Given the description of an element on the screen output the (x, y) to click on. 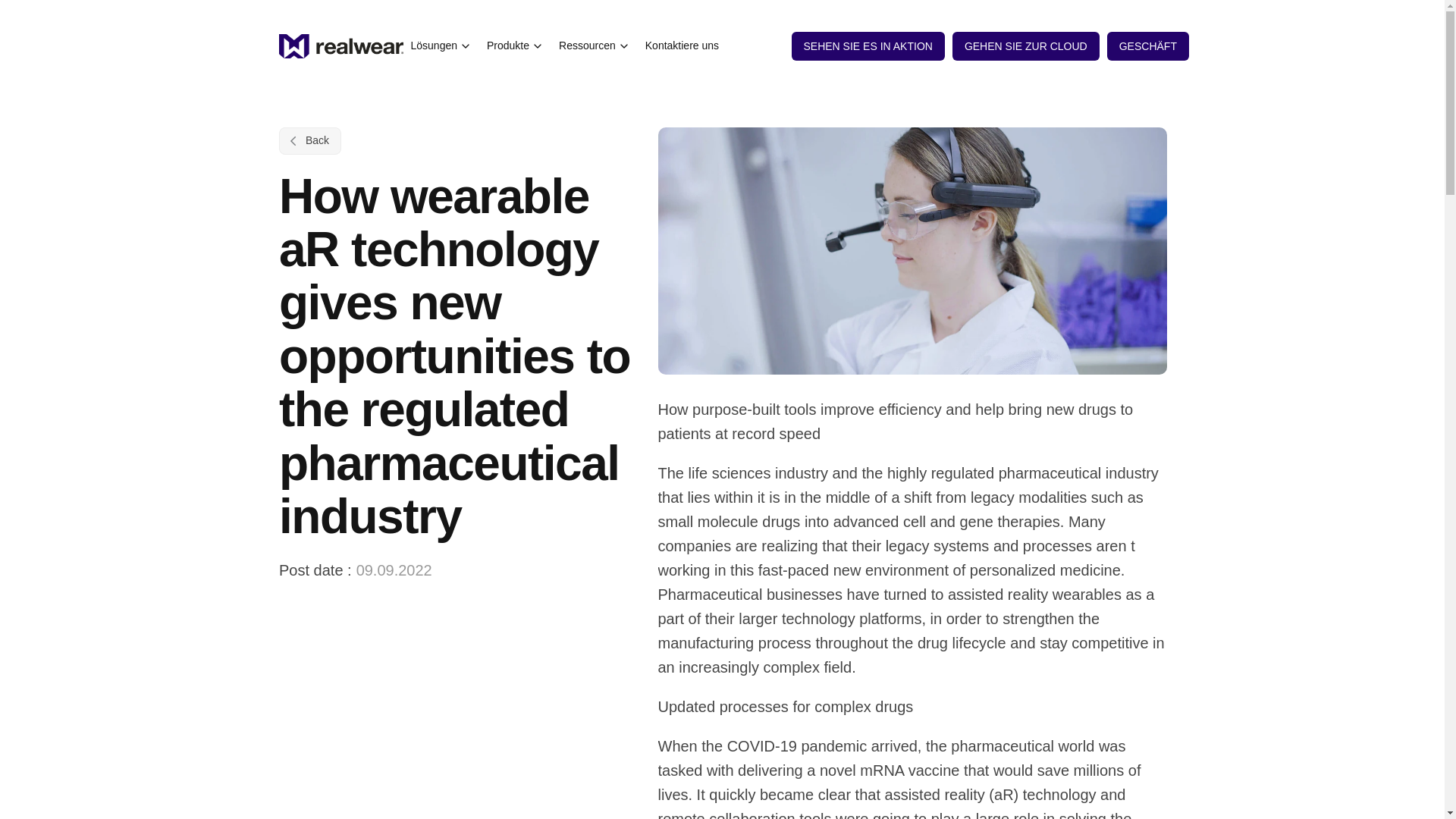
Back (309, 140)
SEHEN SIE ES IN AKTION (868, 45)
Ressourcen (594, 46)
Produkte (515, 46)
Kontaktiere uns (681, 46)
GEHEN SIE ZUR CLOUD (1025, 45)
